Given the description of an element on the screen output the (x, y) to click on. 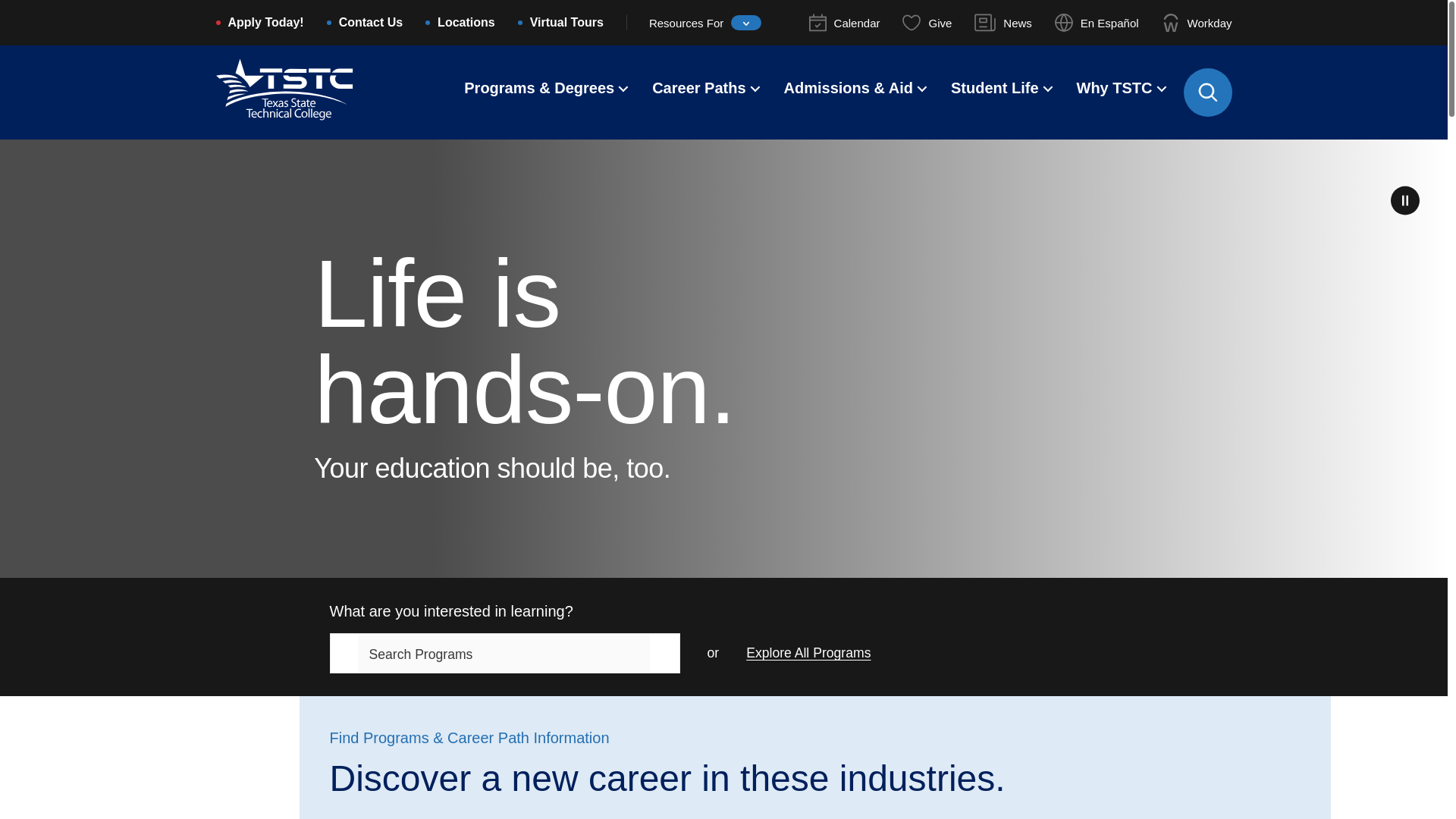
News (1003, 22)
Workday (1196, 22)
Apply Today! (264, 23)
Contact Us (371, 23)
Student Life (994, 89)
Virtual Tours (566, 23)
Career Paths (698, 89)
Calendar (844, 22)
Give (927, 22)
Locations (466, 23)
